Given the description of an element on the screen output the (x, y) to click on. 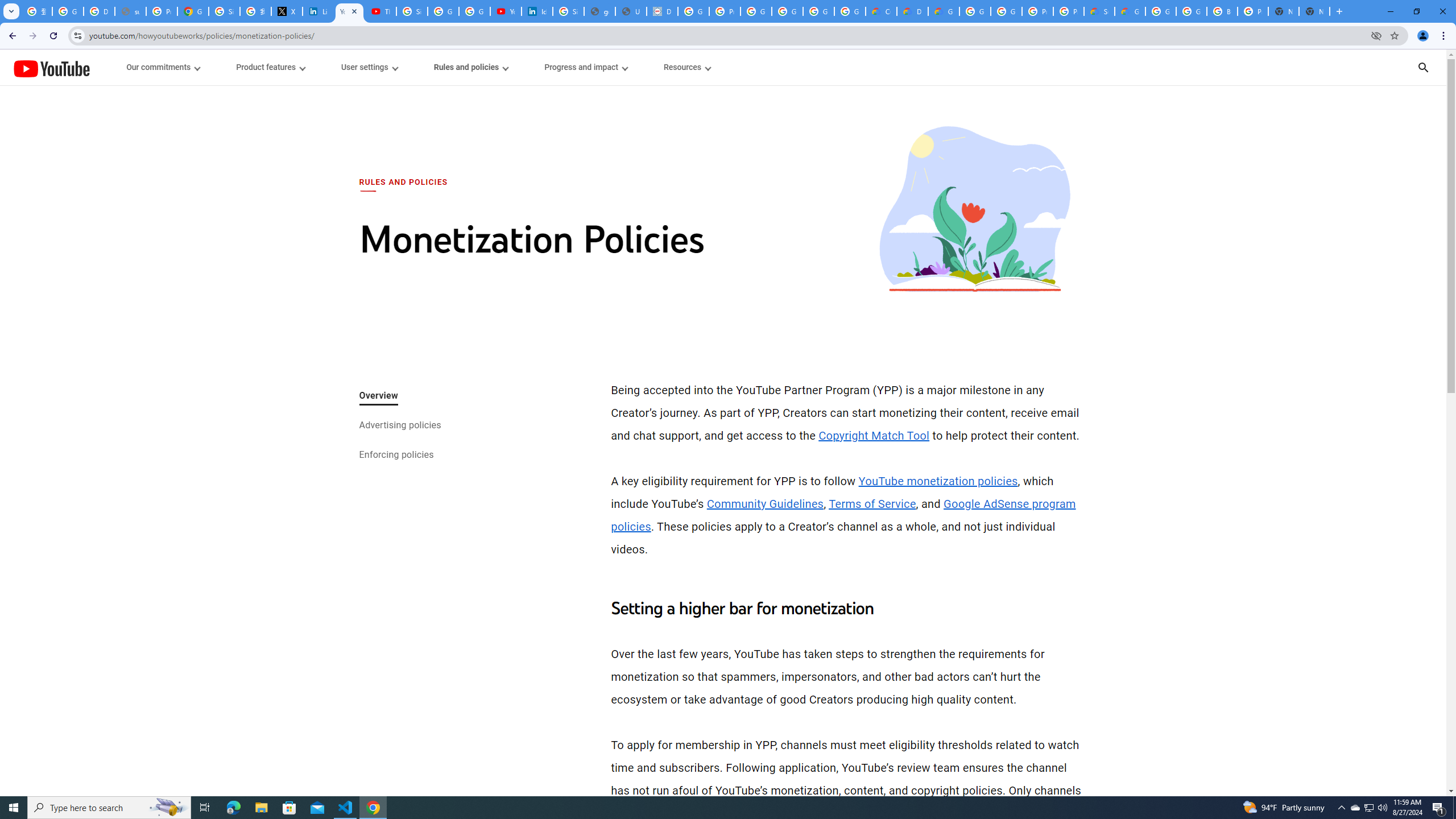
User settings menupopup (368, 67)
Gemini for Business and Developers | Google Cloud (943, 11)
google_privacy_policy_en.pdf (599, 11)
User Details (631, 11)
Resources menupopup (686, 67)
Google Cloud Service Health (1129, 11)
Product features menupopup (269, 67)
Progress and impact menupopup (585, 67)
Sign in - Google Accounts (411, 11)
Monetization policies (974, 216)
New Tab (1314, 11)
Play (723, 469)
